Given the description of an element on the screen output the (x, y) to click on. 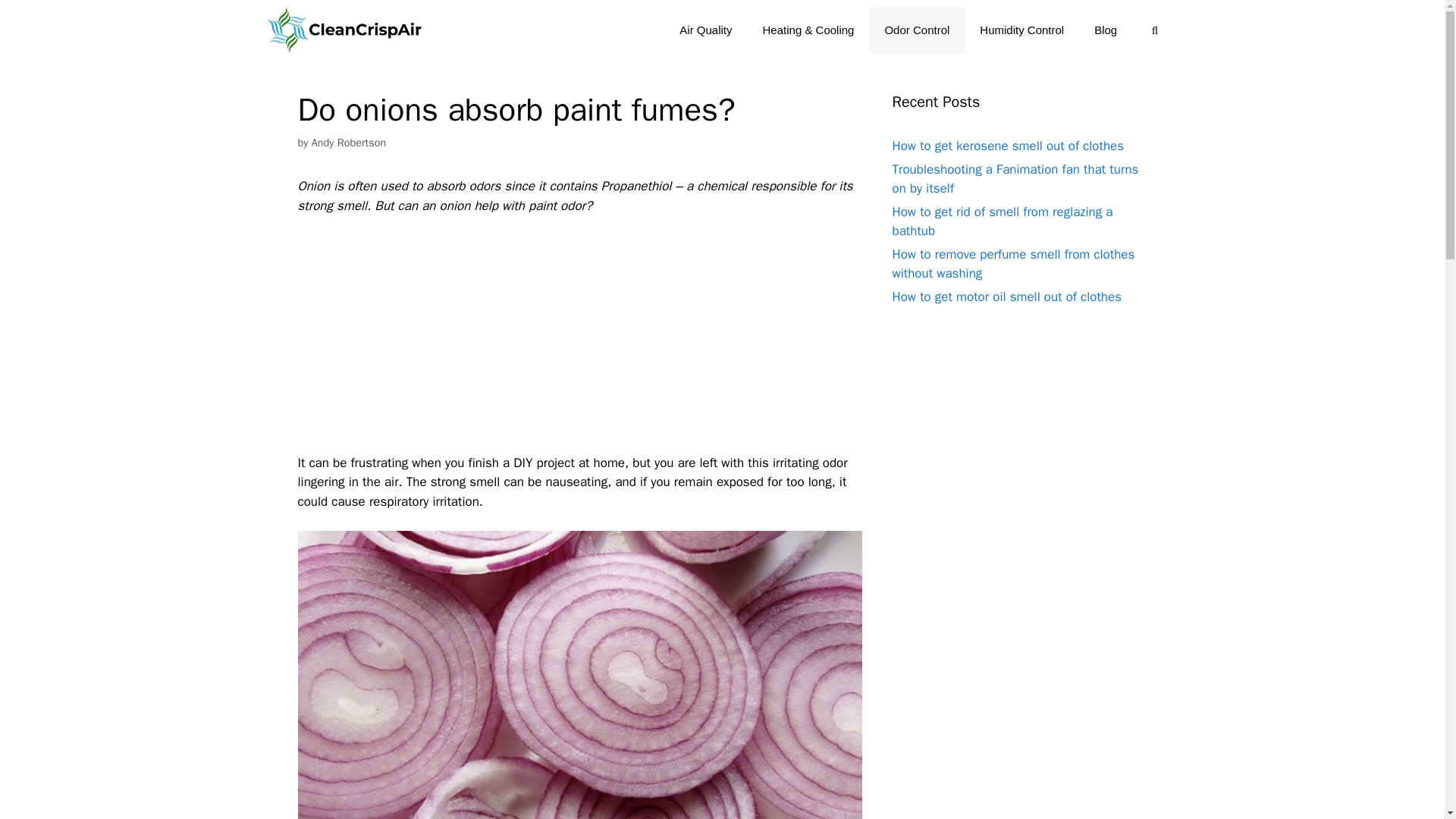
Odor Control (916, 30)
How to get motor oil smell out of clothes (1006, 295)
How to remove perfume smell from clothes without washing (1012, 263)
Humidity Control (1020, 30)
Advertisement (579, 341)
How to get kerosene smell out of clothes (1007, 145)
Troubleshooting a Fanimation fan that turns on by itself (1014, 178)
CleanCrispAir (347, 30)
CleanCrispAir (344, 30)
Andy Robertson (349, 142)
